Given the description of an element on the screen output the (x, y) to click on. 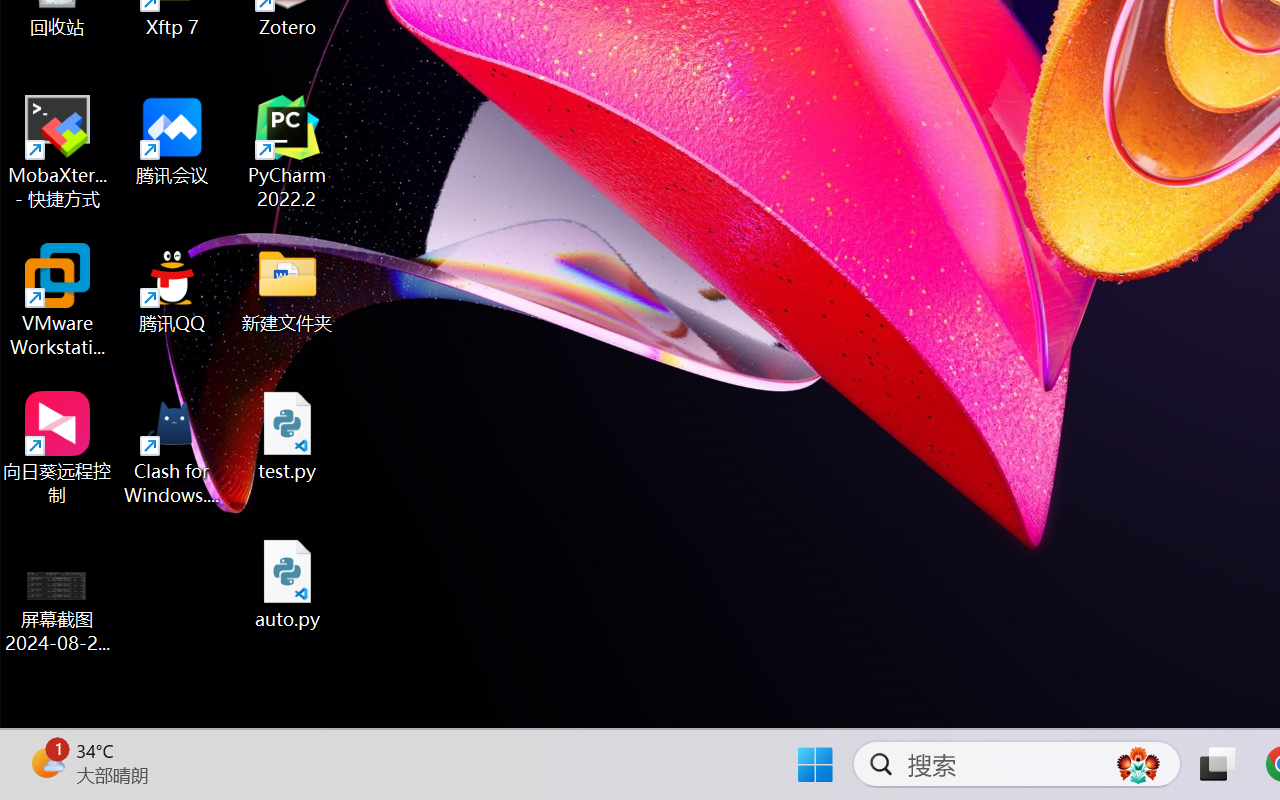
PyCharm 2022.2 (287, 152)
